Given the description of an element on the screen output the (x, y) to click on. 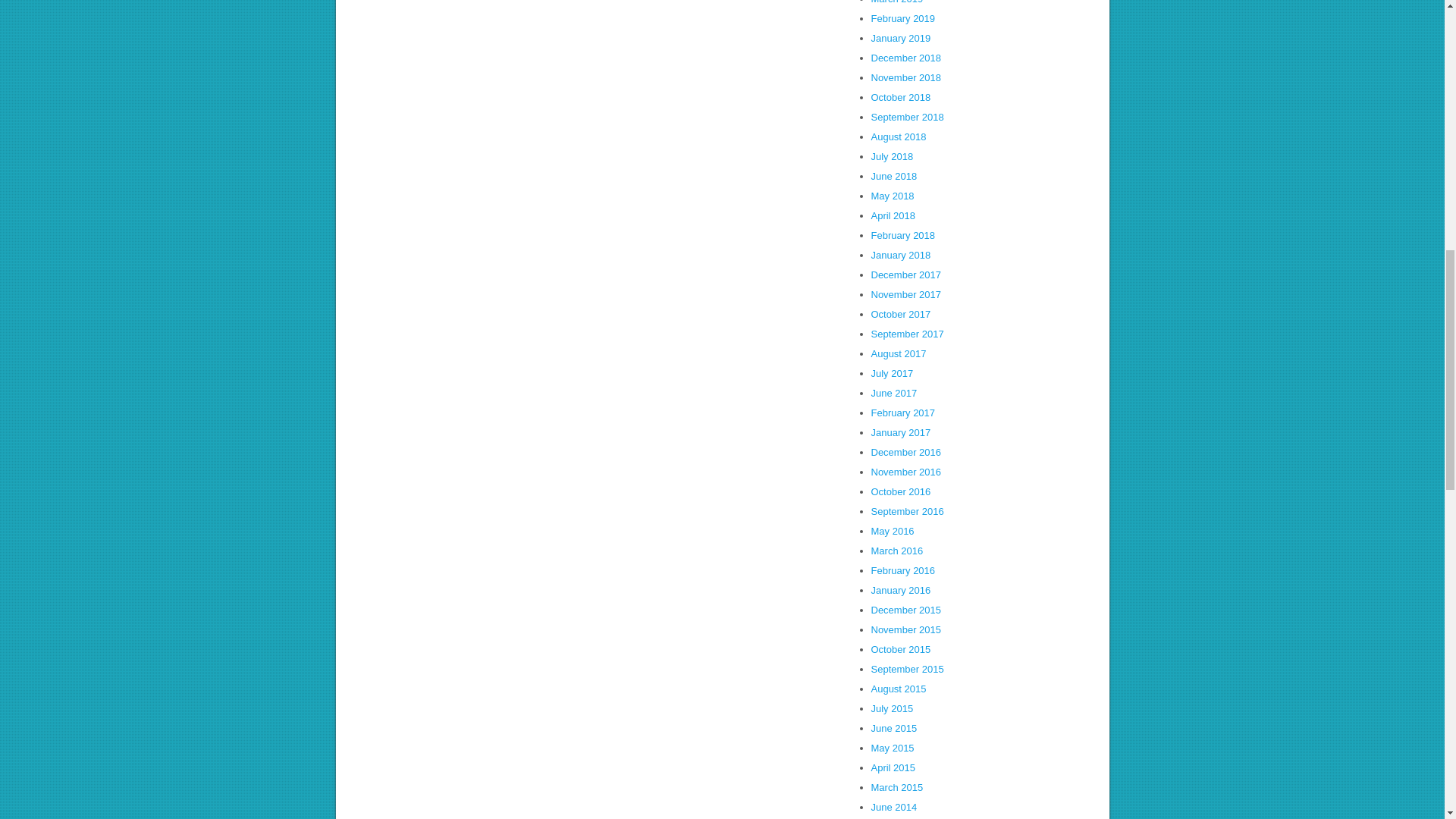
September 2018 (906, 116)
December 2018 (905, 57)
February 2019 (902, 18)
June 2018 (893, 175)
May 2018 (892, 195)
March 2019 (896, 2)
February 2018 (902, 235)
November 2018 (905, 77)
January 2019 (900, 38)
August 2018 (898, 136)
